Given the description of an element on the screen output the (x, y) to click on. 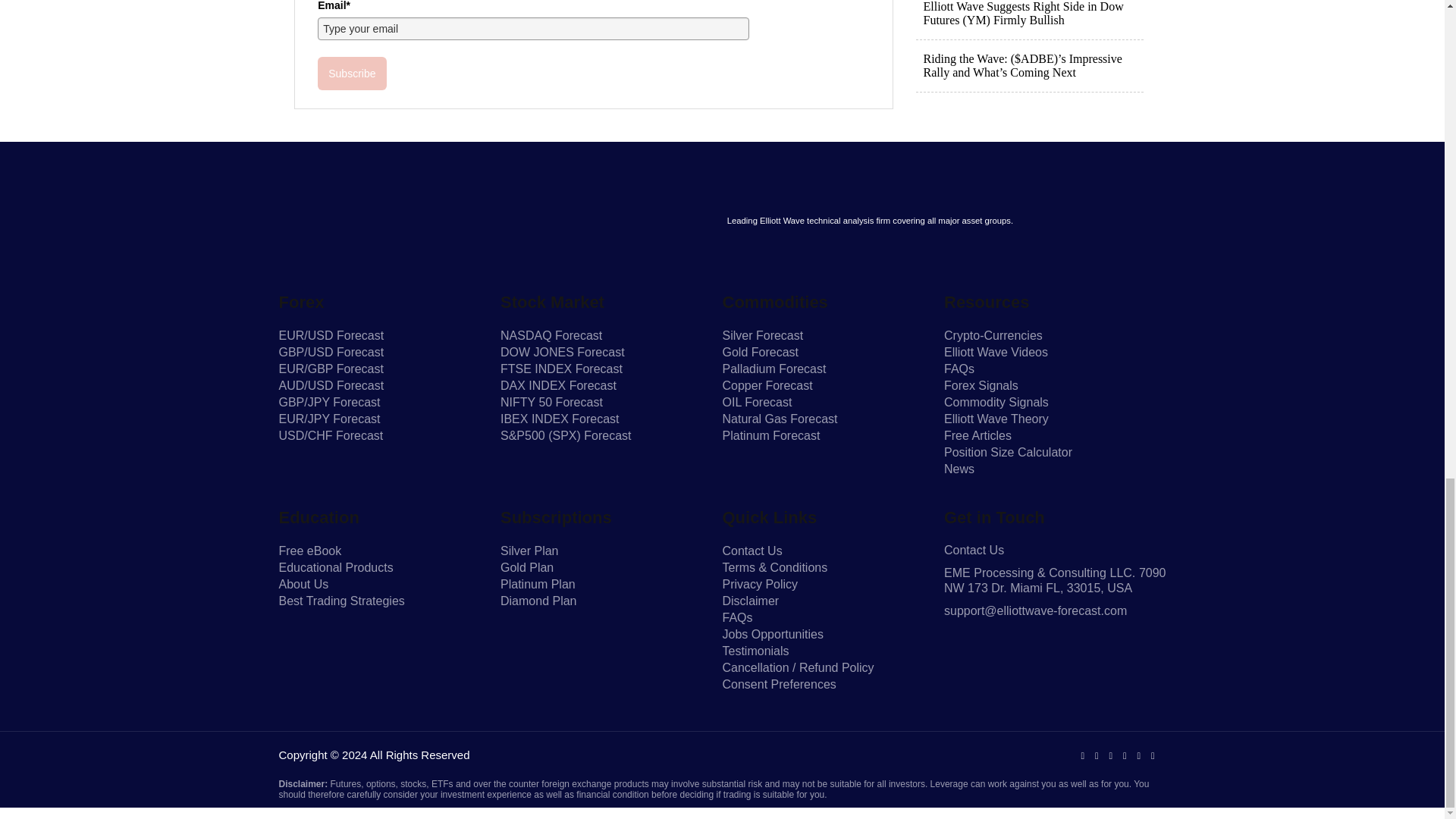
DAX INDEX Forecast (557, 385)
DOW JONES Forecast (562, 351)
FTSE INDEX Forecast (561, 368)
NIFTY 50 Forecast (551, 401)
Silver Forecast (762, 335)
IBEX INDEX Forecast (560, 418)
NASDAQ Forecast (551, 335)
